Given the description of an element on the screen output the (x, y) to click on. 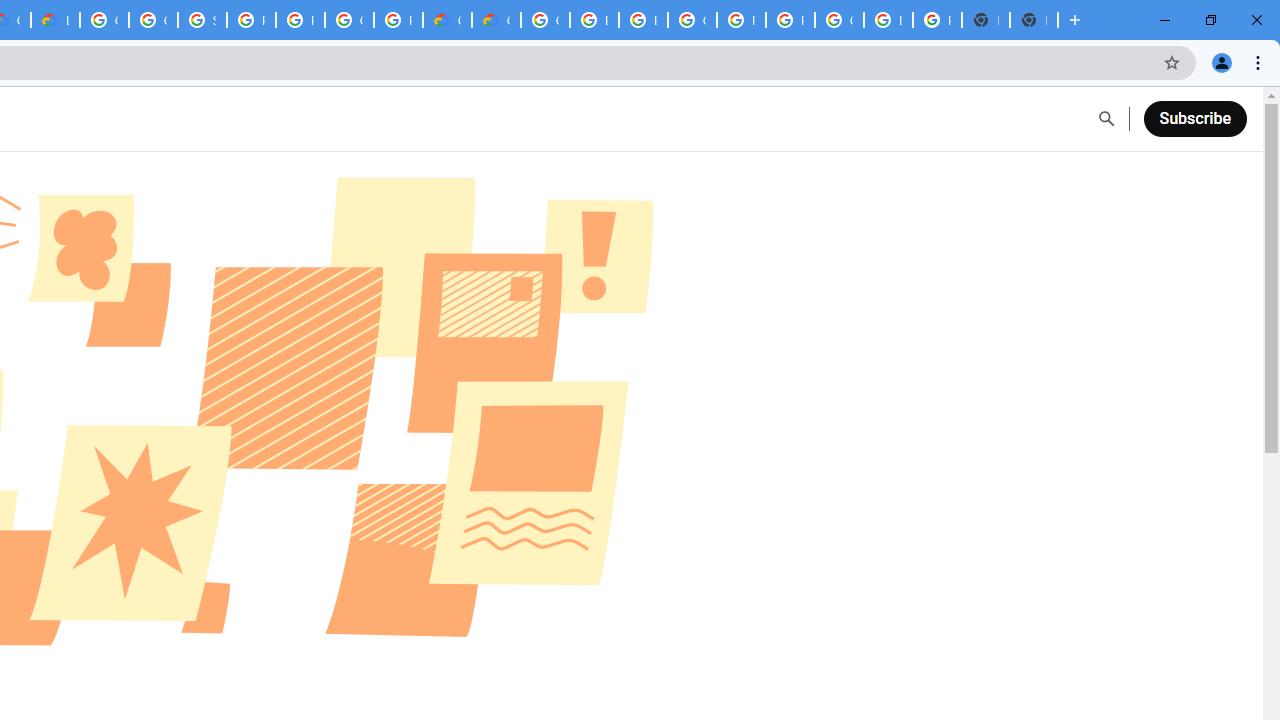
Browse Chrome as a guest - Computer - Google Chrome Help (643, 20)
Google Cloud Estimate Summary (496, 20)
Customer Care | Google Cloud (447, 20)
Open Search (1106, 119)
Google Cloud Platform (349, 20)
Google Cloud Platform (839, 20)
Browse Chrome as a guest - Computer - Google Chrome Help (594, 20)
